Given the description of an element on the screen output the (x, y) to click on. 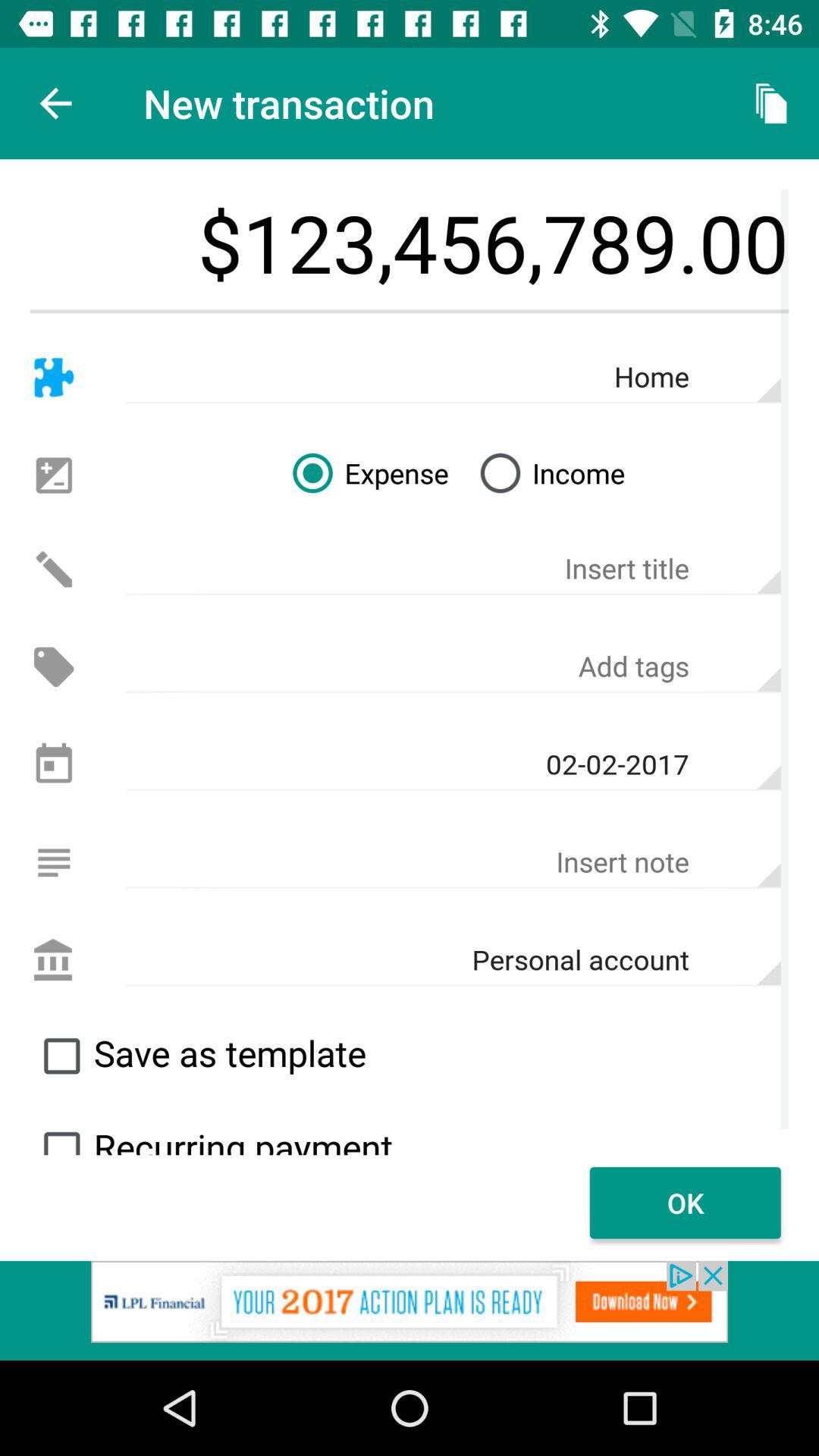
insert title (452, 568)
